Given the description of an element on the screen output the (x, y) to click on. 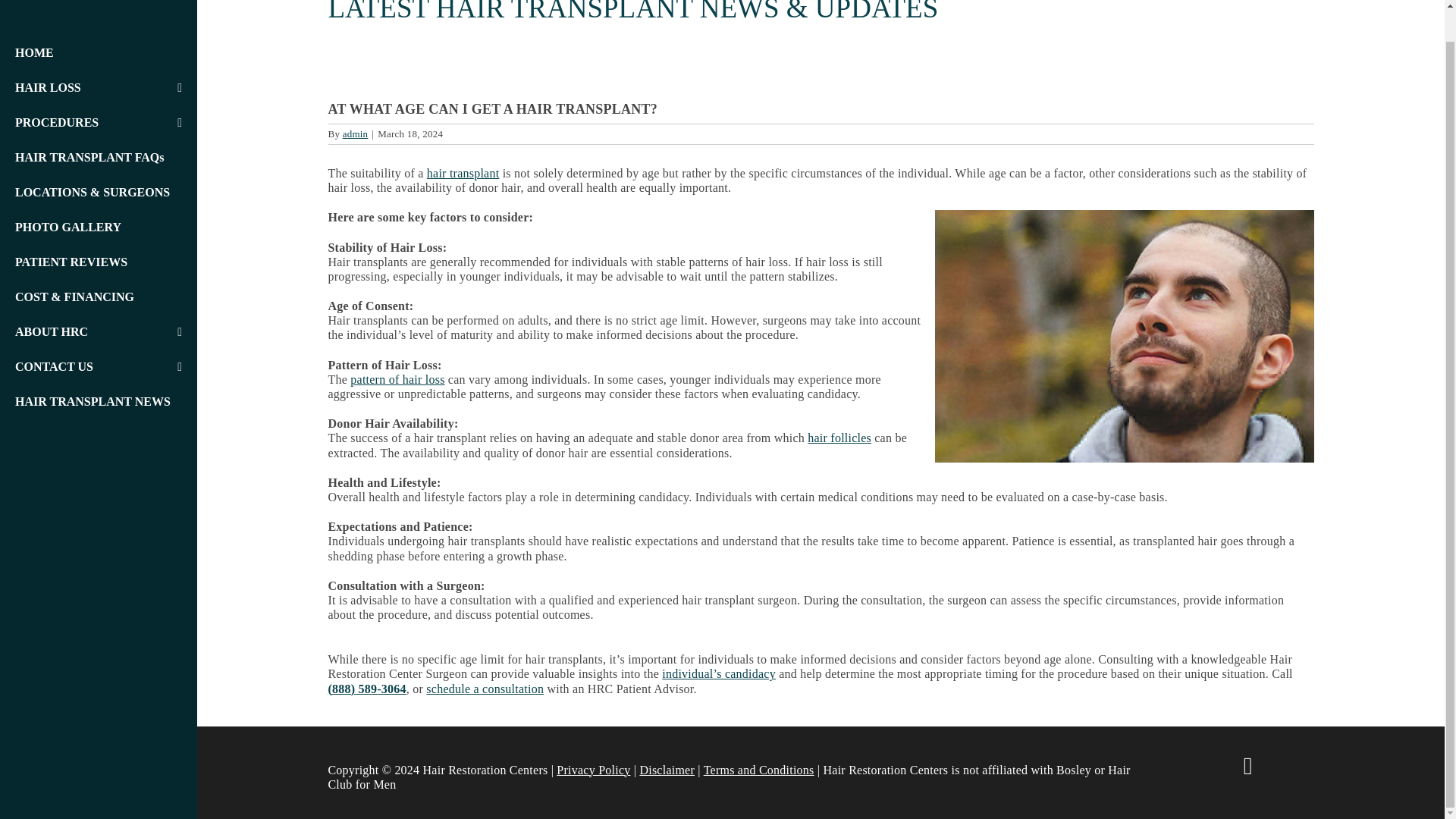
Posts by admin (355, 133)
HAIR TRANSPLANT FAQs (98, 157)
PROCEDURES (92, 122)
HAIR LOSS (92, 87)
CONTACT US (92, 367)
PHOTO GALLERY (98, 227)
HAIR TRANSPLANT NEWS (98, 401)
PATIENT REVIEWS (98, 262)
HOME (98, 52)
ABOUT HRC (92, 331)
